Given the description of an element on the screen output the (x, y) to click on. 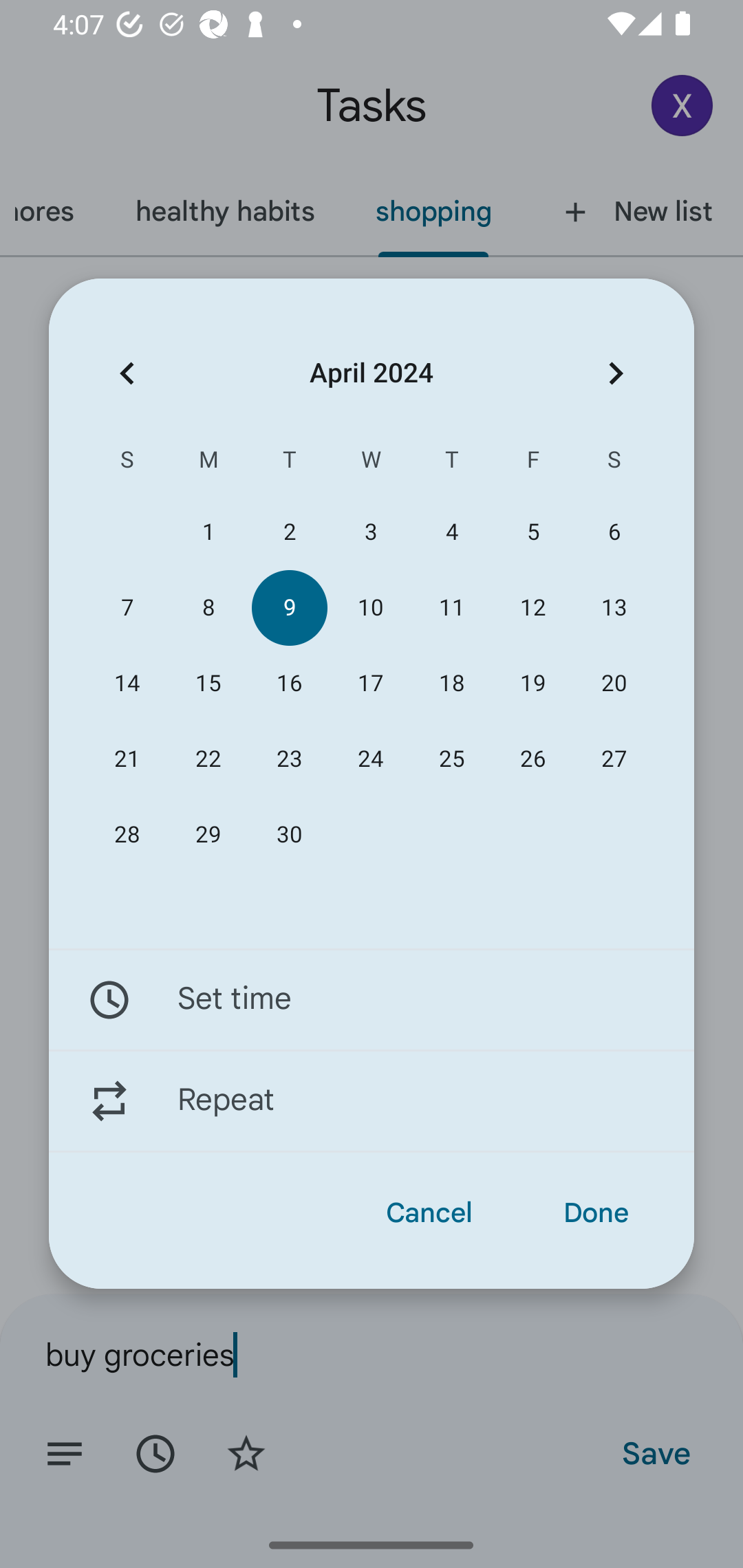
Previous month (126, 372)
Next month (615, 372)
1 01 April 2024 (207, 531)
2 02 April 2024 (288, 531)
3 03 April 2024 (370, 531)
4 04 April 2024 (451, 531)
5 05 April 2024 (532, 531)
6 06 April 2024 (613, 531)
7 07 April 2024 (126, 608)
8 08 April 2024 (207, 608)
9 09 April 2024 (288, 608)
10 10 April 2024 (370, 608)
11 11 April 2024 (451, 608)
12 12 April 2024 (532, 608)
13 13 April 2024 (613, 608)
14 14 April 2024 (126, 683)
15 15 April 2024 (207, 683)
16 16 April 2024 (288, 683)
17 17 April 2024 (370, 683)
18 18 April 2024 (451, 683)
19 19 April 2024 (532, 683)
20 20 April 2024 (613, 683)
21 21 April 2024 (126, 758)
22 22 April 2024 (207, 758)
23 23 April 2024 (288, 758)
24 24 April 2024 (370, 758)
25 25 April 2024 (451, 758)
26 26 April 2024 (532, 758)
27 27 April 2024 (613, 758)
28 28 April 2024 (126, 834)
29 29 April 2024 (207, 834)
30 30 April 2024 (288, 834)
Set time (371, 999)
Repeat (371, 1101)
Cancel (429, 1213)
Done (595, 1213)
